Given the description of an element on the screen output the (x, y) to click on. 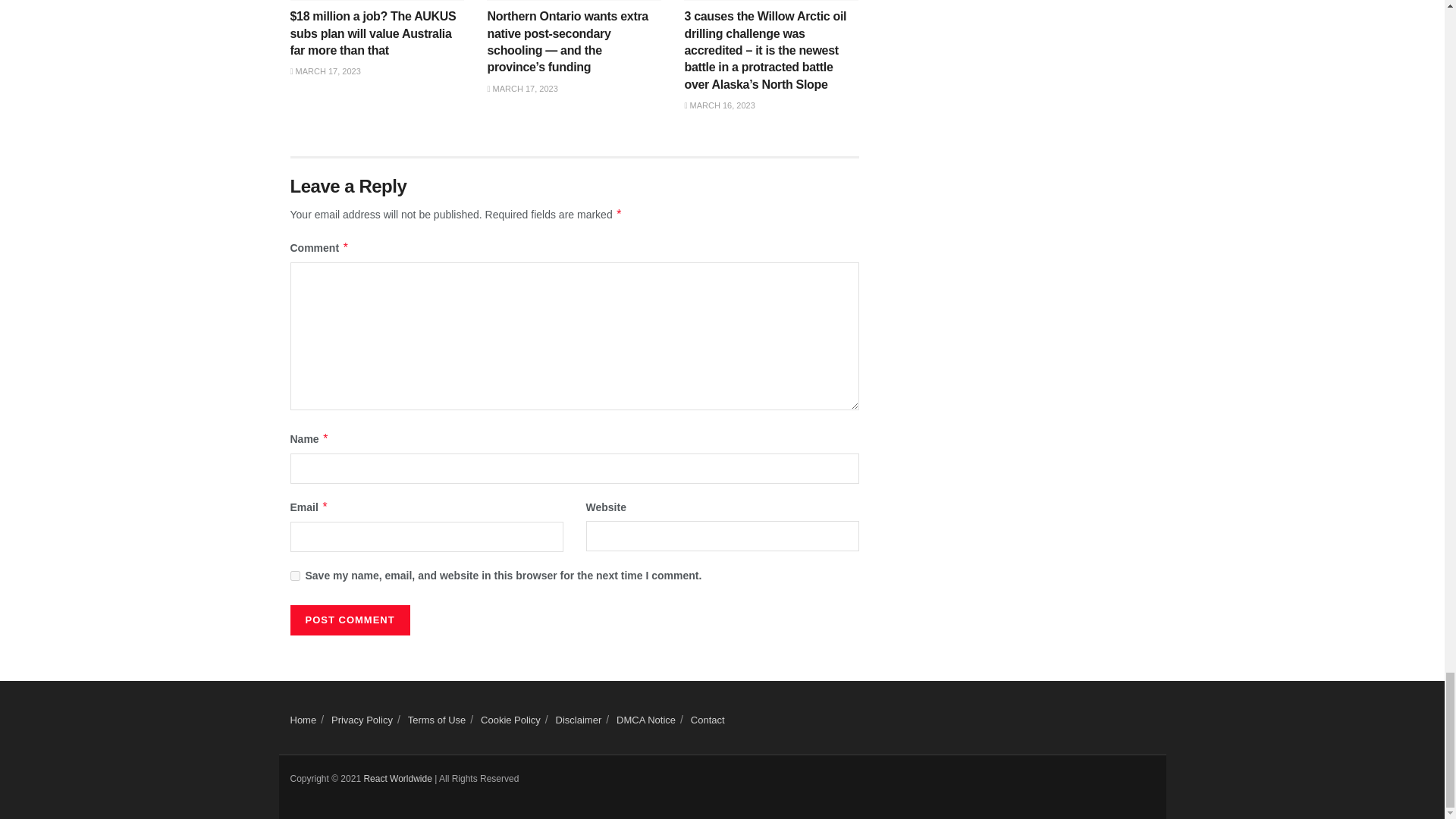
MARCH 17, 2023 (324, 71)
yes (294, 575)
Post Comment (349, 620)
